Given the description of an element on the screen output the (x, y) to click on. 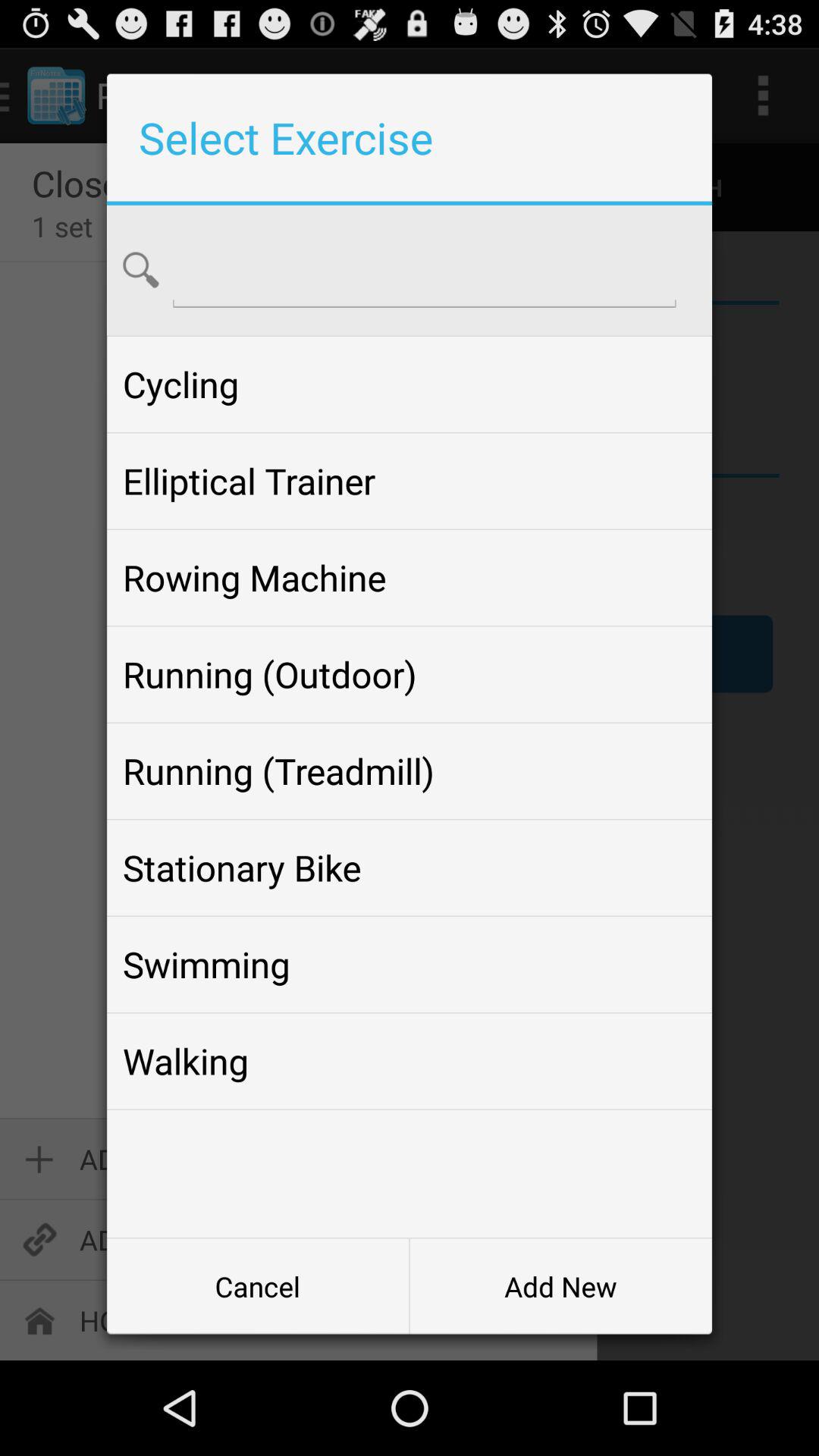
turn on the item below stationary bike icon (409, 964)
